Given the description of an element on the screen output the (x, y) to click on. 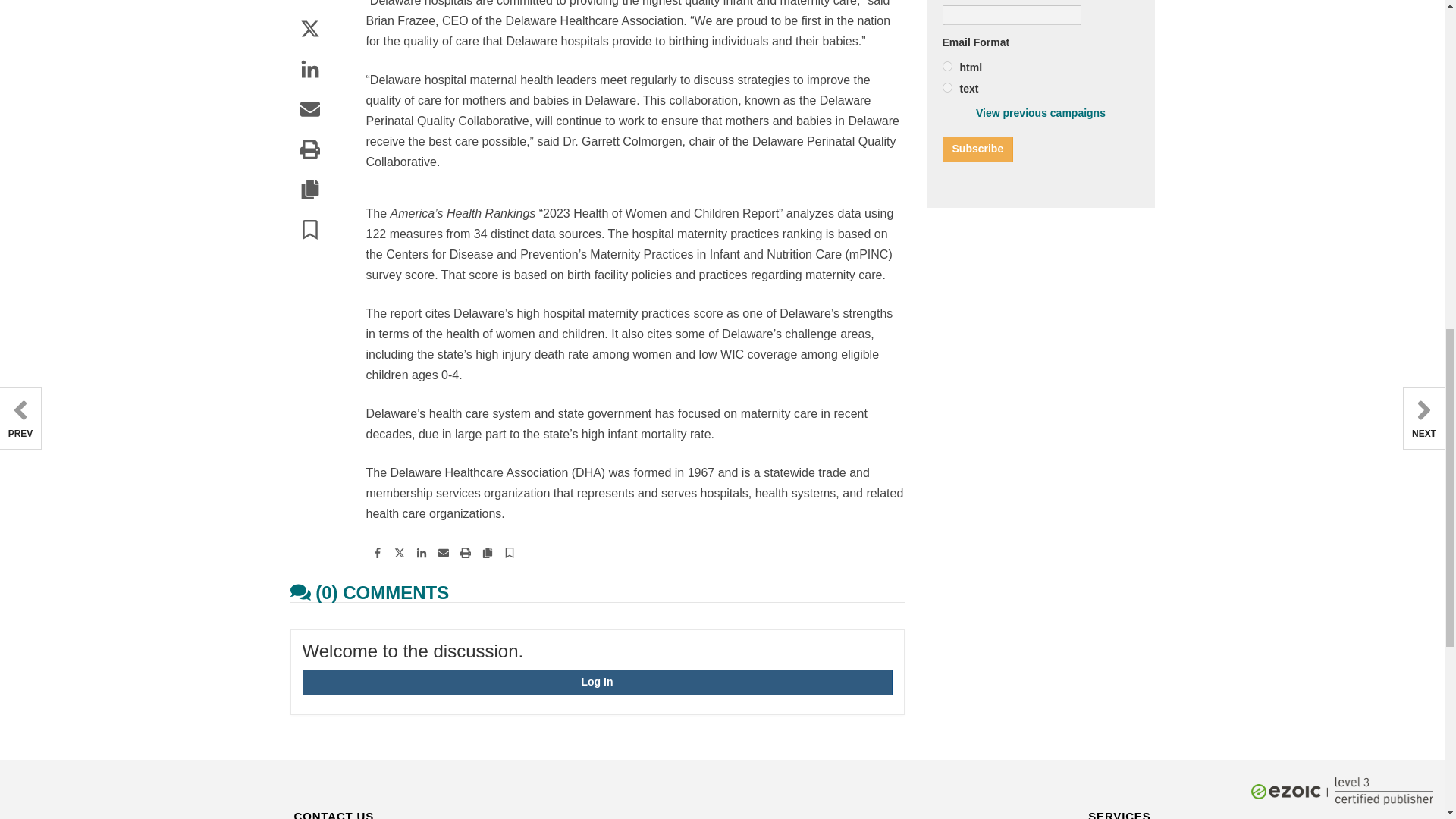
Subscribe (977, 149)
text (947, 87)
html (947, 66)
